Given the description of an element on the screen output the (x, y) to click on. 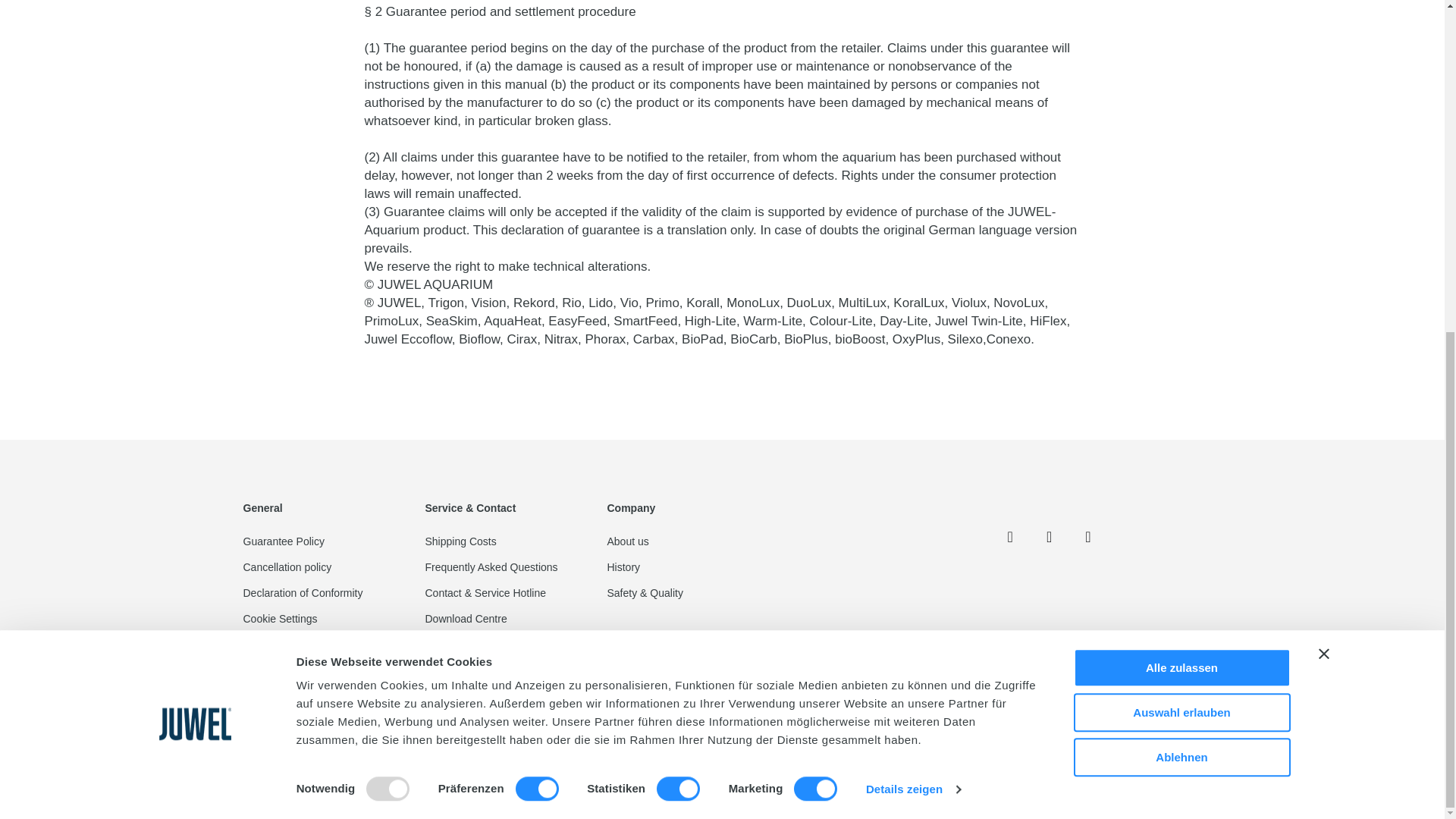
Details zeigen (913, 235)
Auswahl erlauben (1182, 158)
Alle zulassen (1182, 114)
Ablehnen (1182, 203)
